Given the description of an element on the screen output the (x, y) to click on. 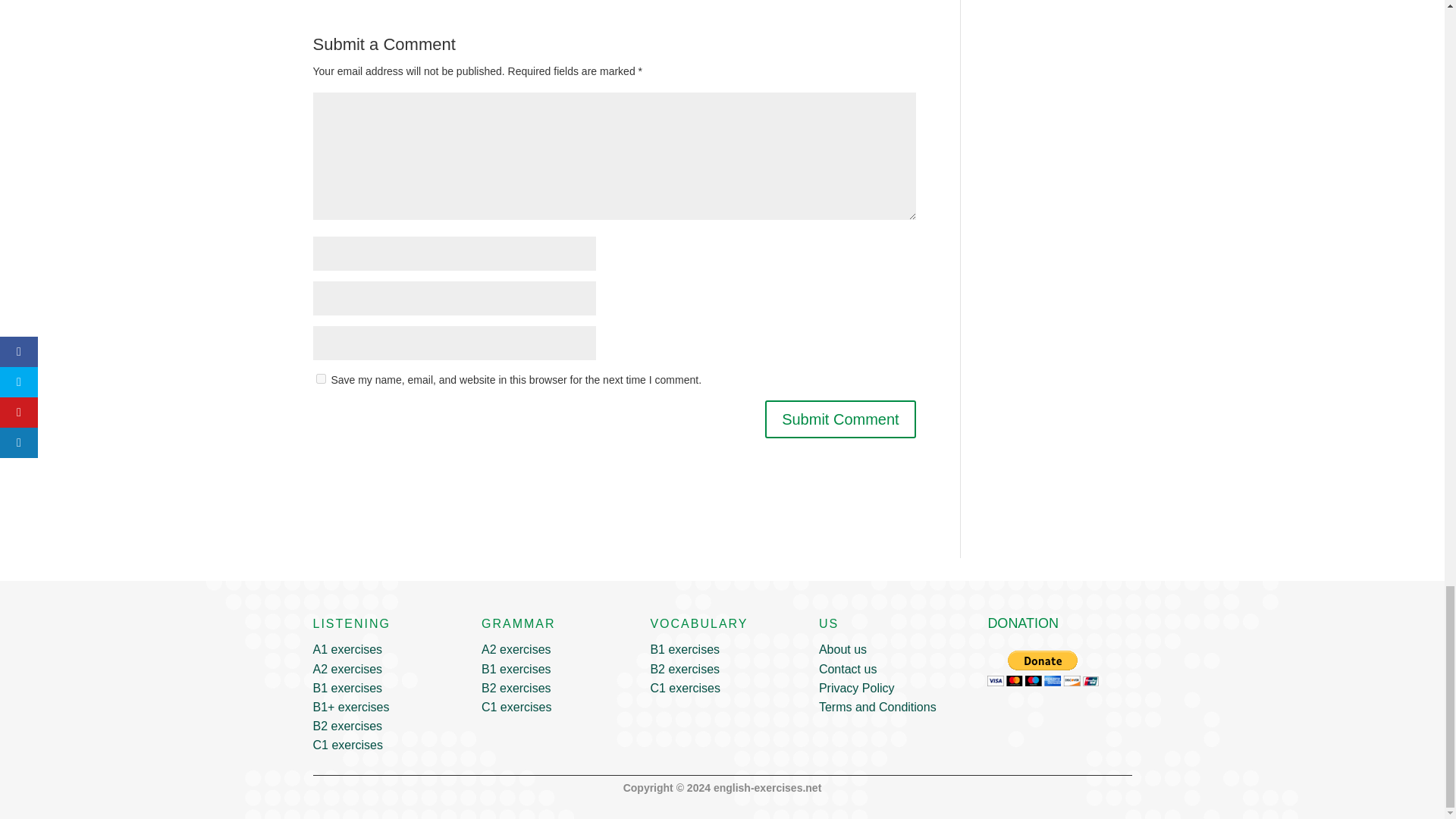
yes (319, 378)
Submit Comment (840, 419)
Submit Comment (840, 419)
